Given the description of an element on the screen output the (x, y) to click on. 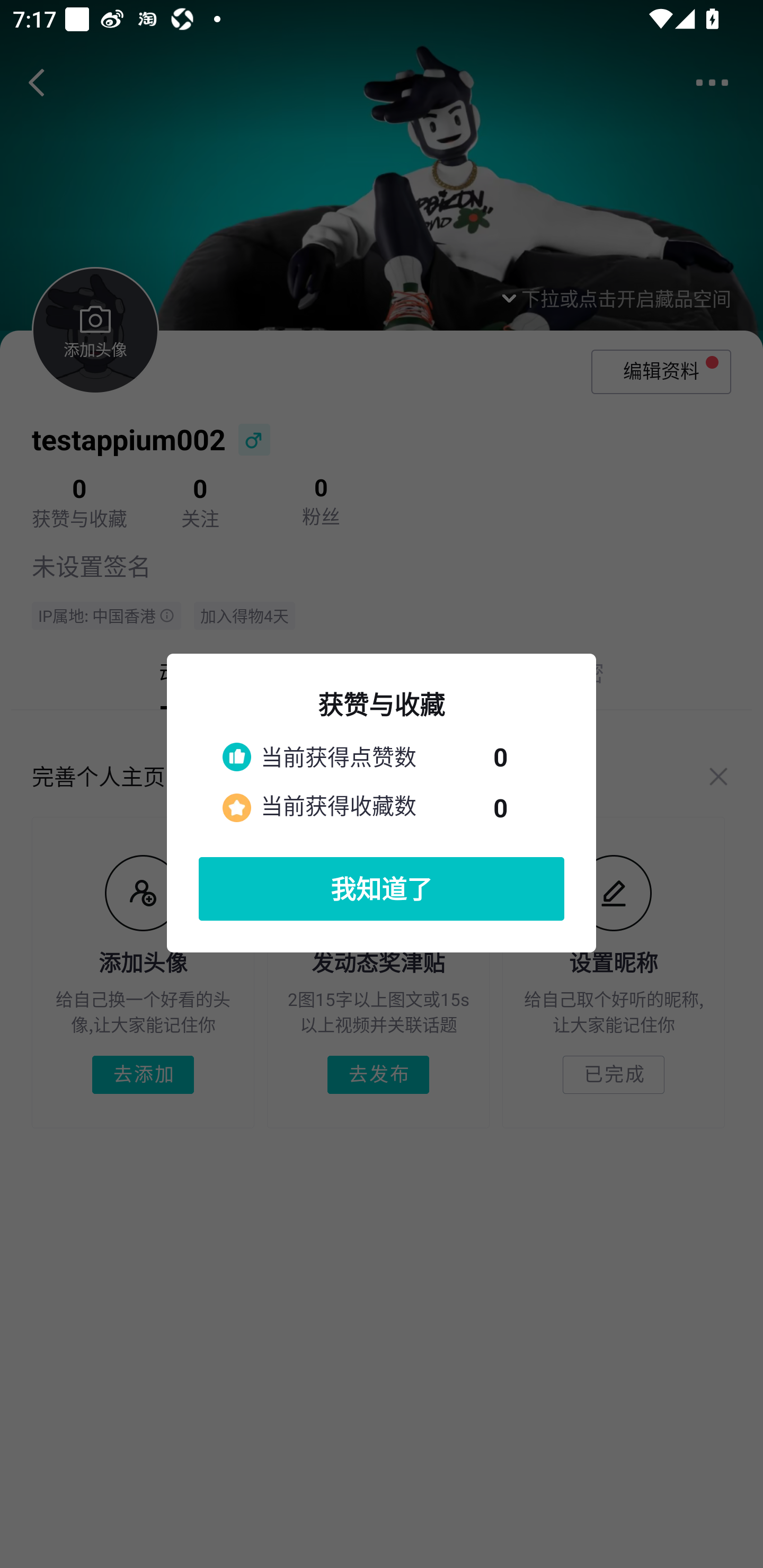
我知道了 (381, 888)
